Given the description of an element on the screen output the (x, y) to click on. 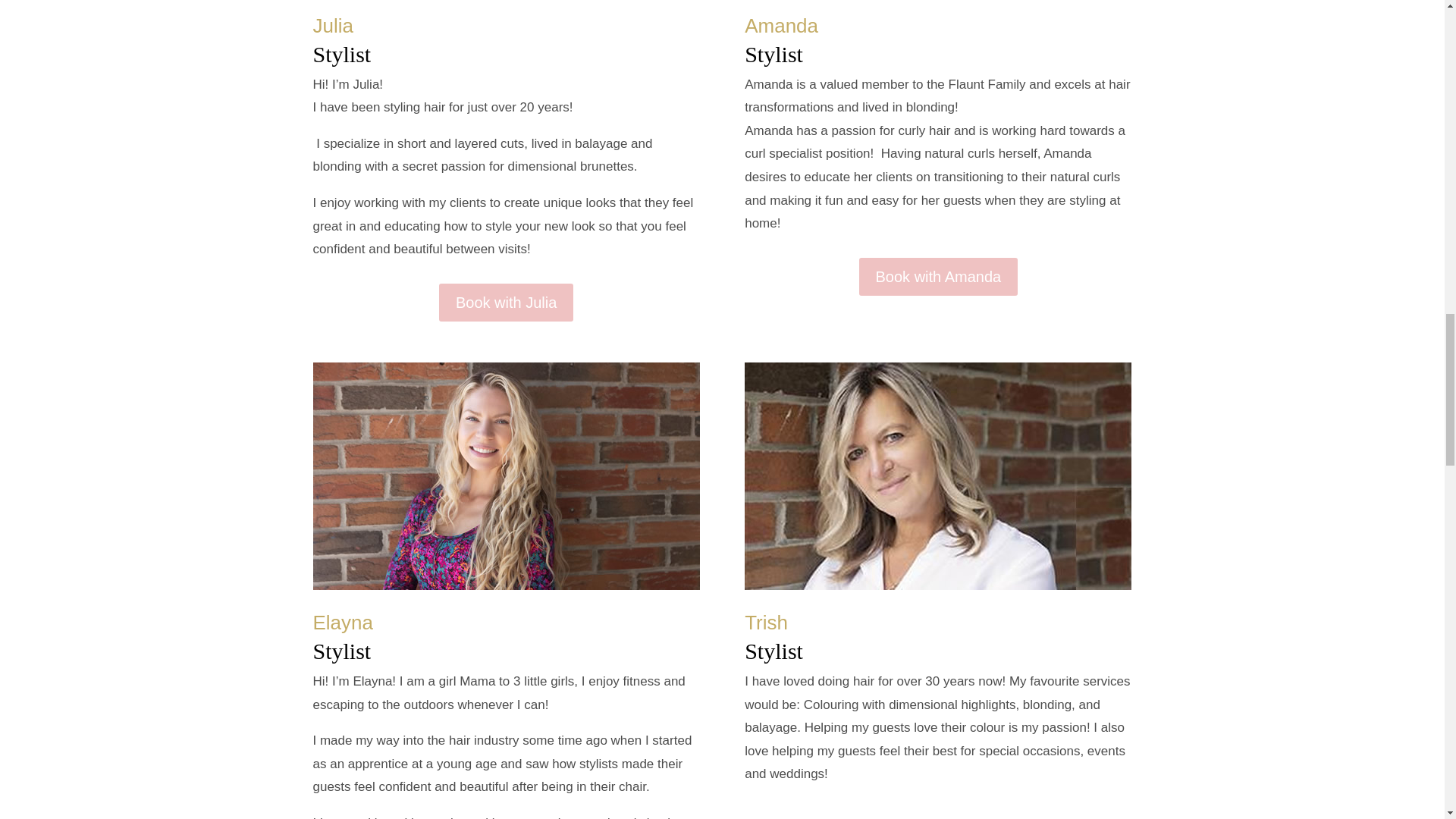
elayna (505, 475)
Book with Amanda (938, 276)
Book with Julia (506, 302)
trish (937, 475)
